Given the description of an element on the screen output the (x, y) to click on. 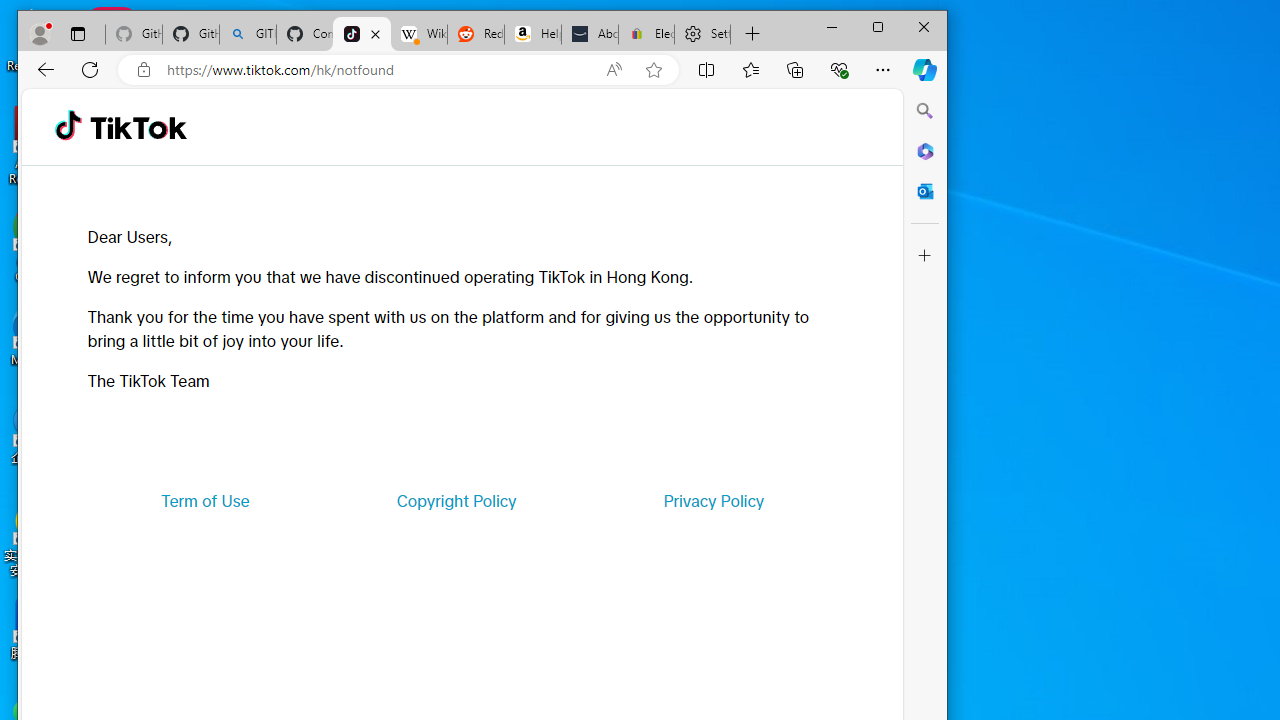
Term of Use (205, 500)
Maximize (878, 26)
About Amazon (589, 34)
GITHUB - Search (248, 34)
